Given the description of an element on the screen output the (x, y) to click on. 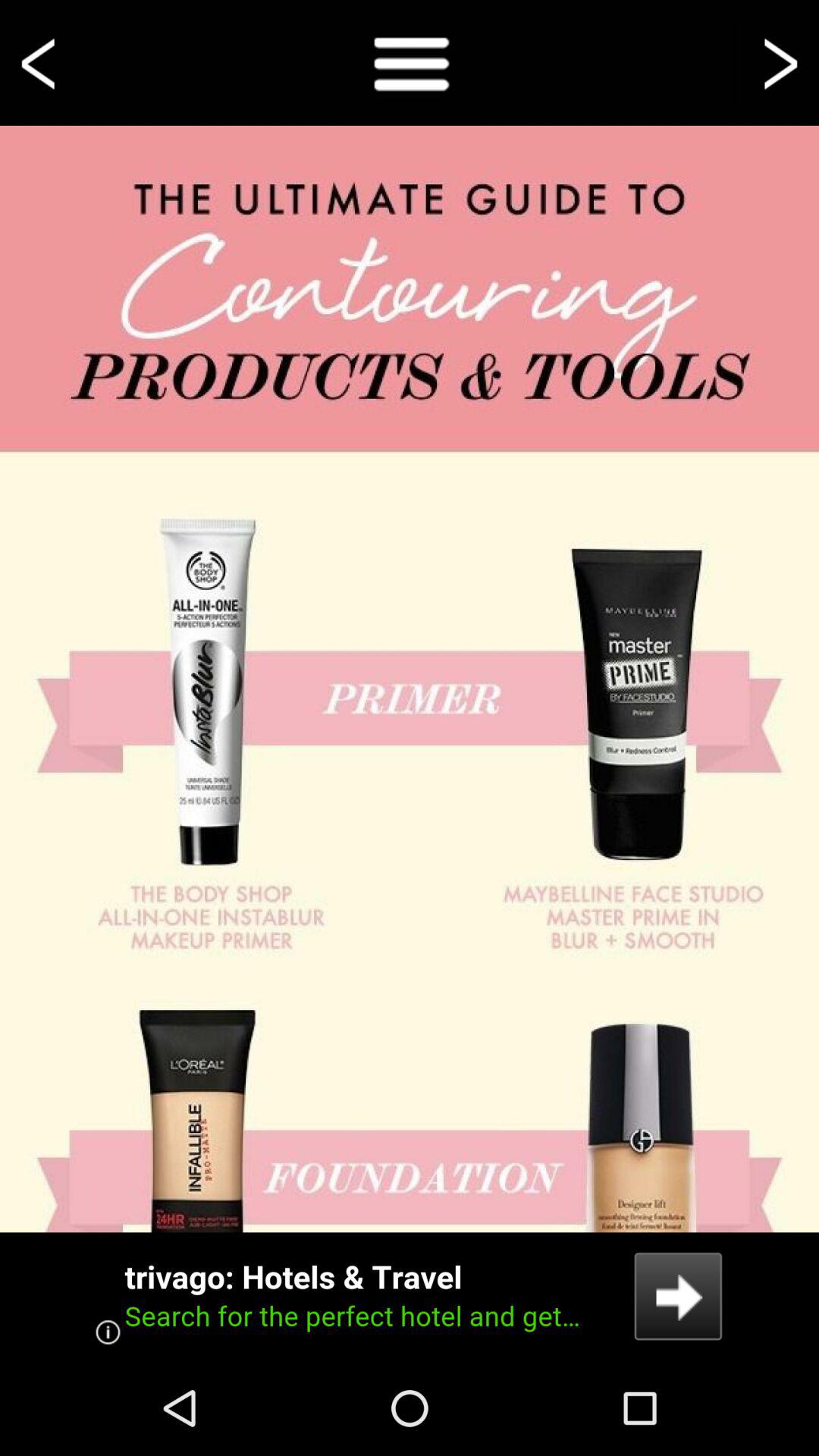
forward (778, 62)
